Given the description of an element on the screen output the (x, y) to click on. 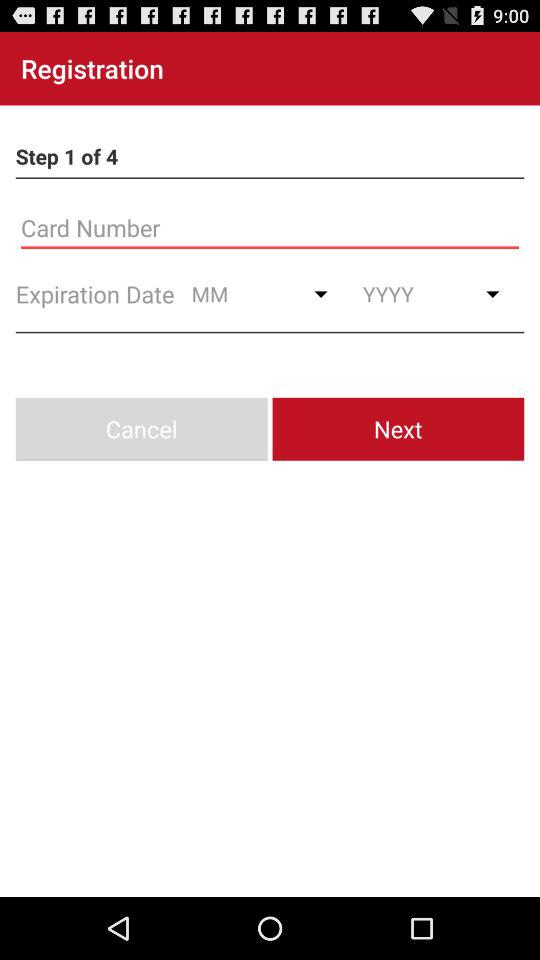
enter card number (269, 227)
